Given the description of an element on the screen output the (x, y) to click on. 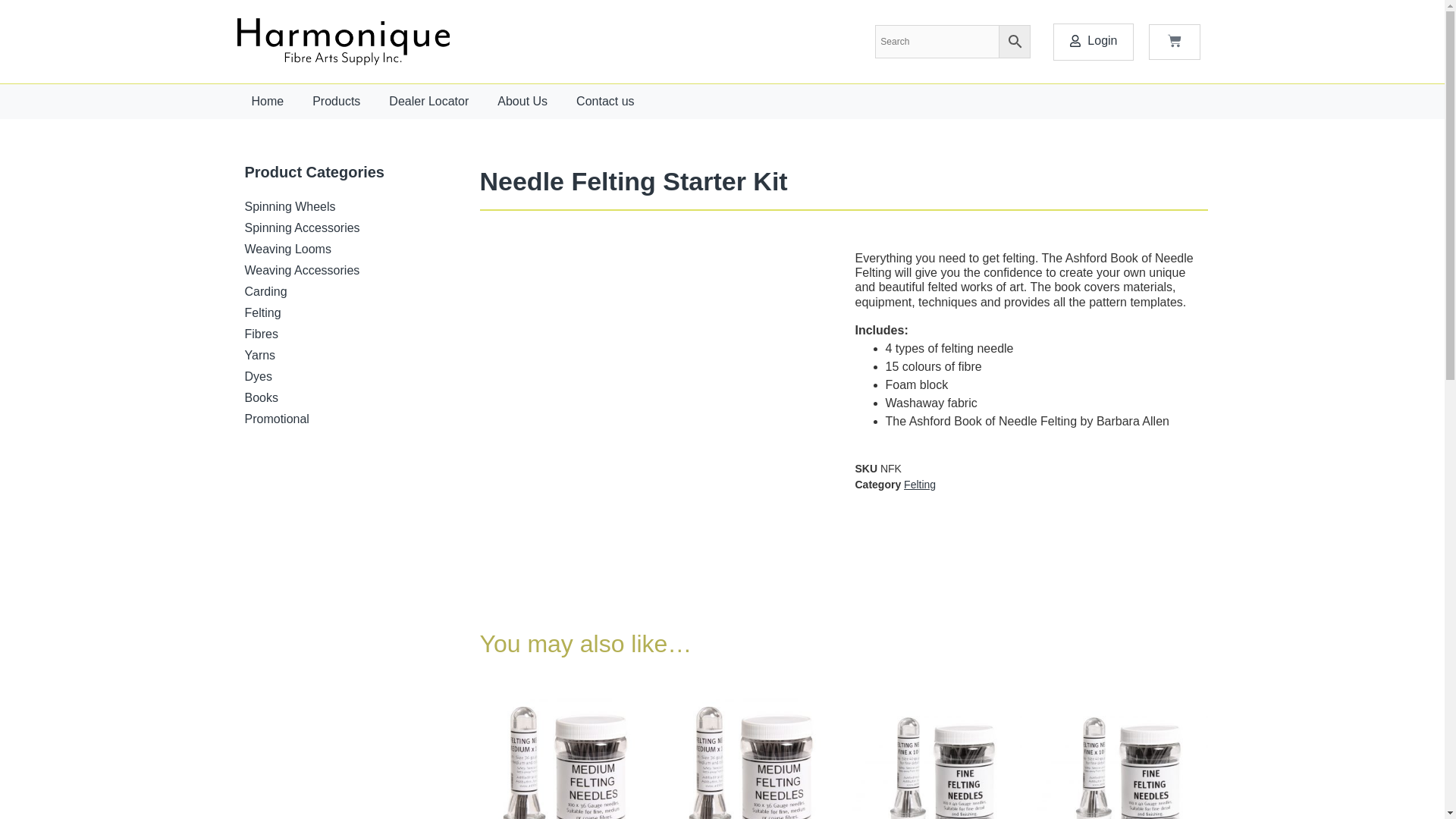
Login (1092, 40)
Products (336, 101)
Home (266, 101)
